Given the description of an element on the screen output the (x, y) to click on. 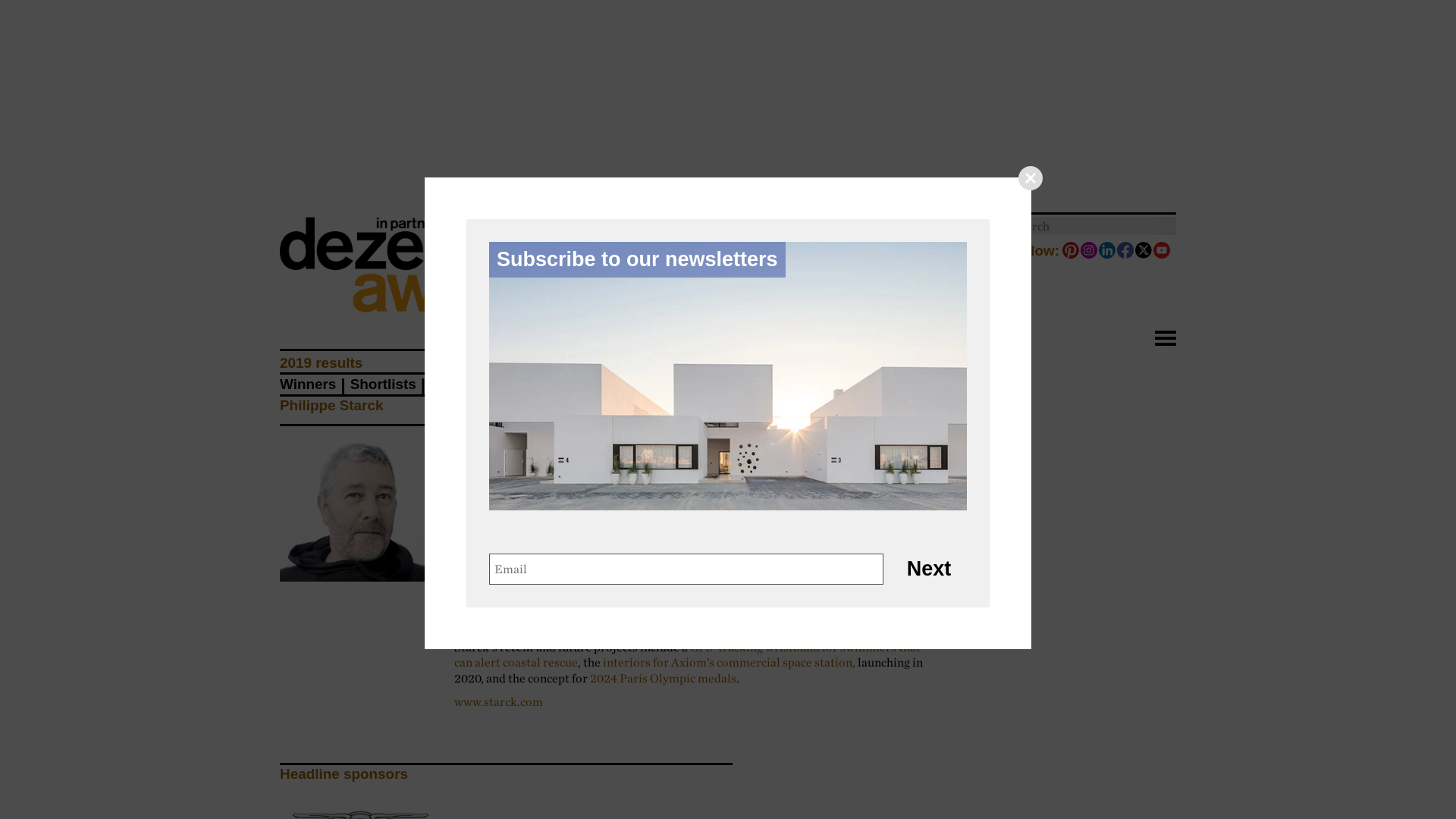
Next (928, 568)
Close (1029, 177)
